Given the description of an element on the screen output the (x, y) to click on. 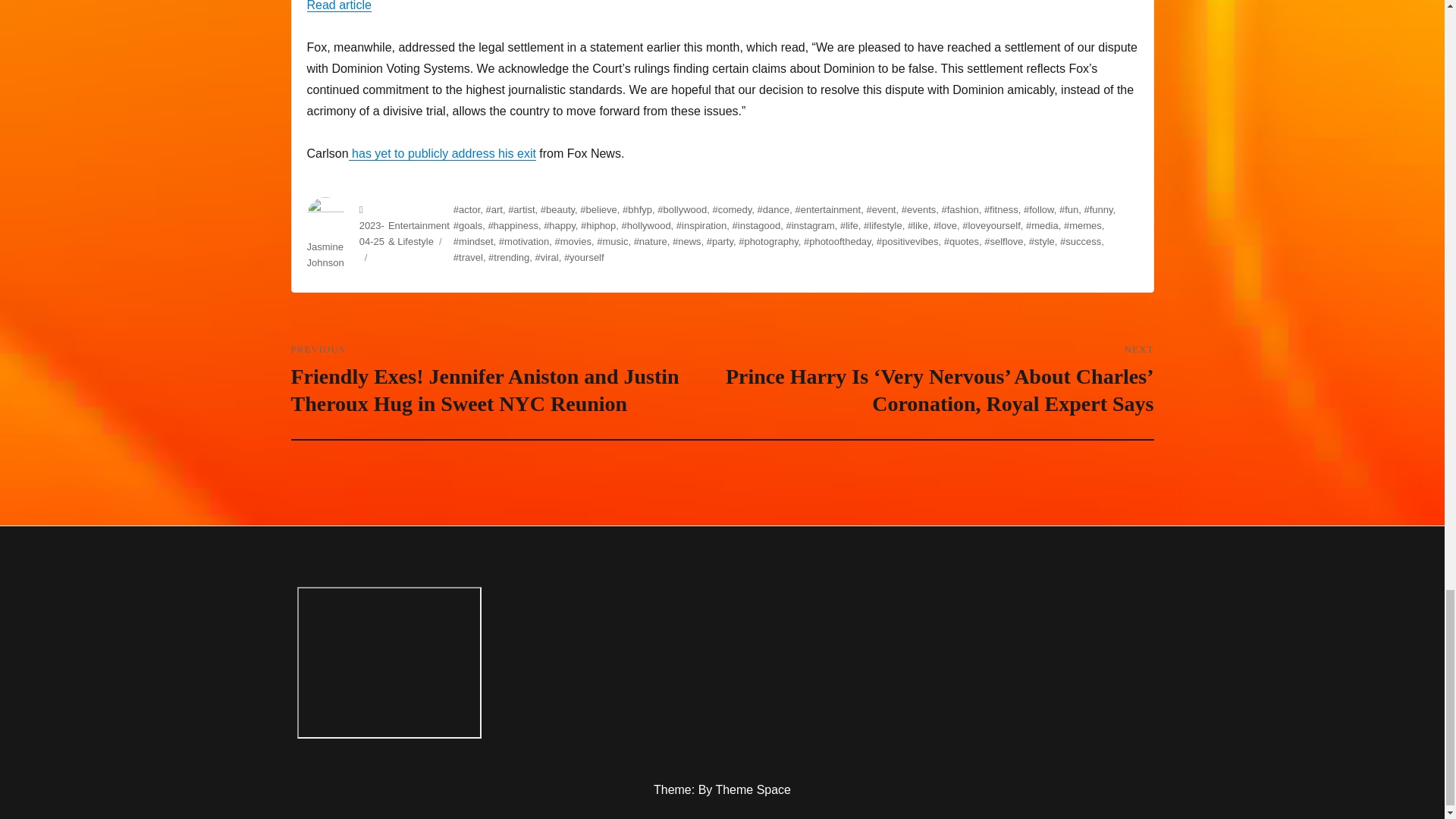
has yet to publicly address his exit (442, 153)
amazing (389, 662)
Jasmine Johnson (324, 254)
2023-04-25 (371, 233)
Read article (338, 5)
